Given the description of an element on the screen output the (x, y) to click on. 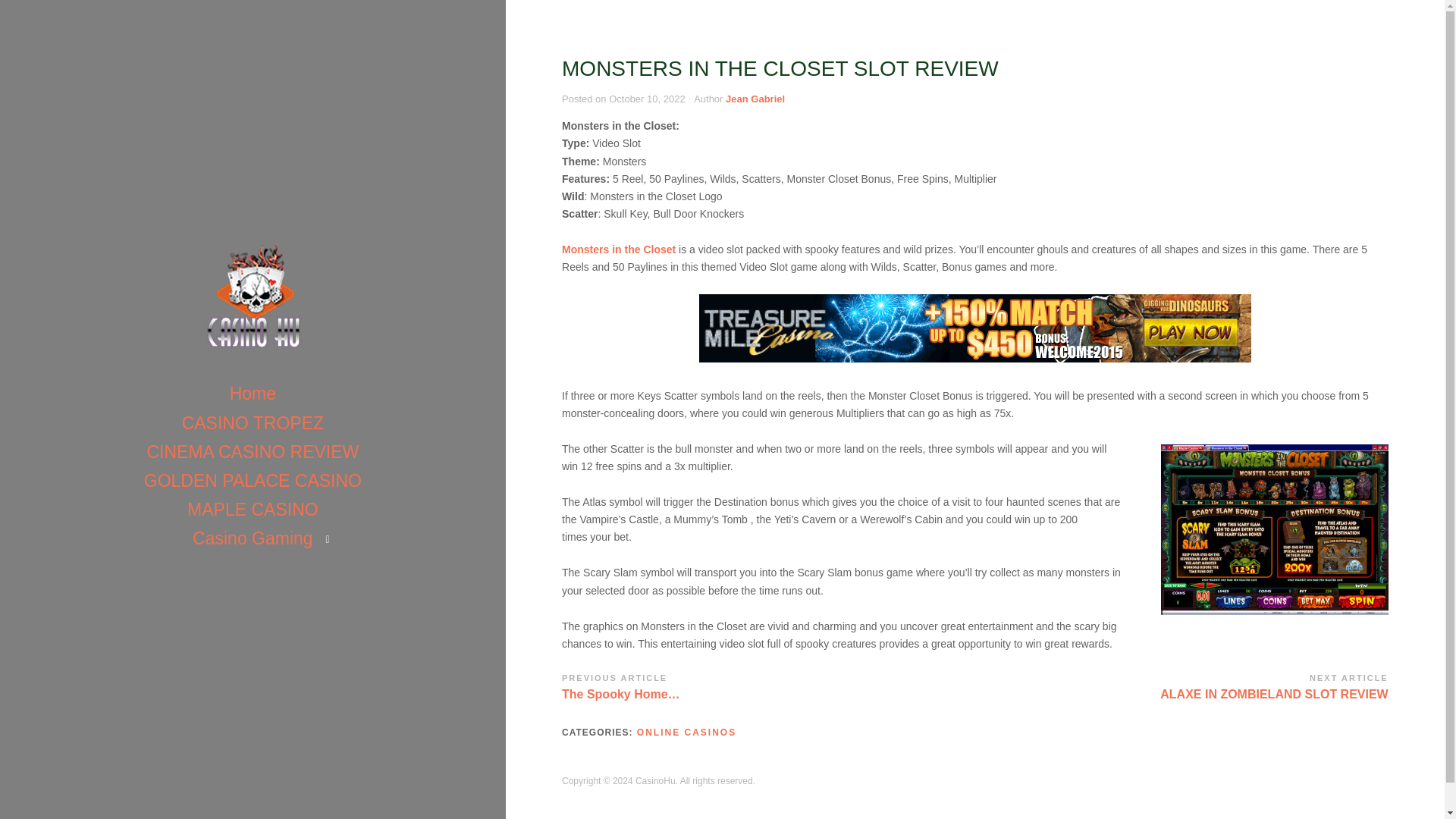
Casino Gaming (252, 538)
GOLDEN PALACE CASINO (253, 480)
Home (252, 393)
MAPLE CASINO (252, 509)
Monsters in the Closet (618, 249)
CINEMA CASINO REVIEW (252, 451)
Jean Gabriel (1182, 685)
ONLINE CASINOS (754, 98)
CASINO TROPEZ (686, 732)
